Given the description of an element on the screen output the (x, y) to click on. 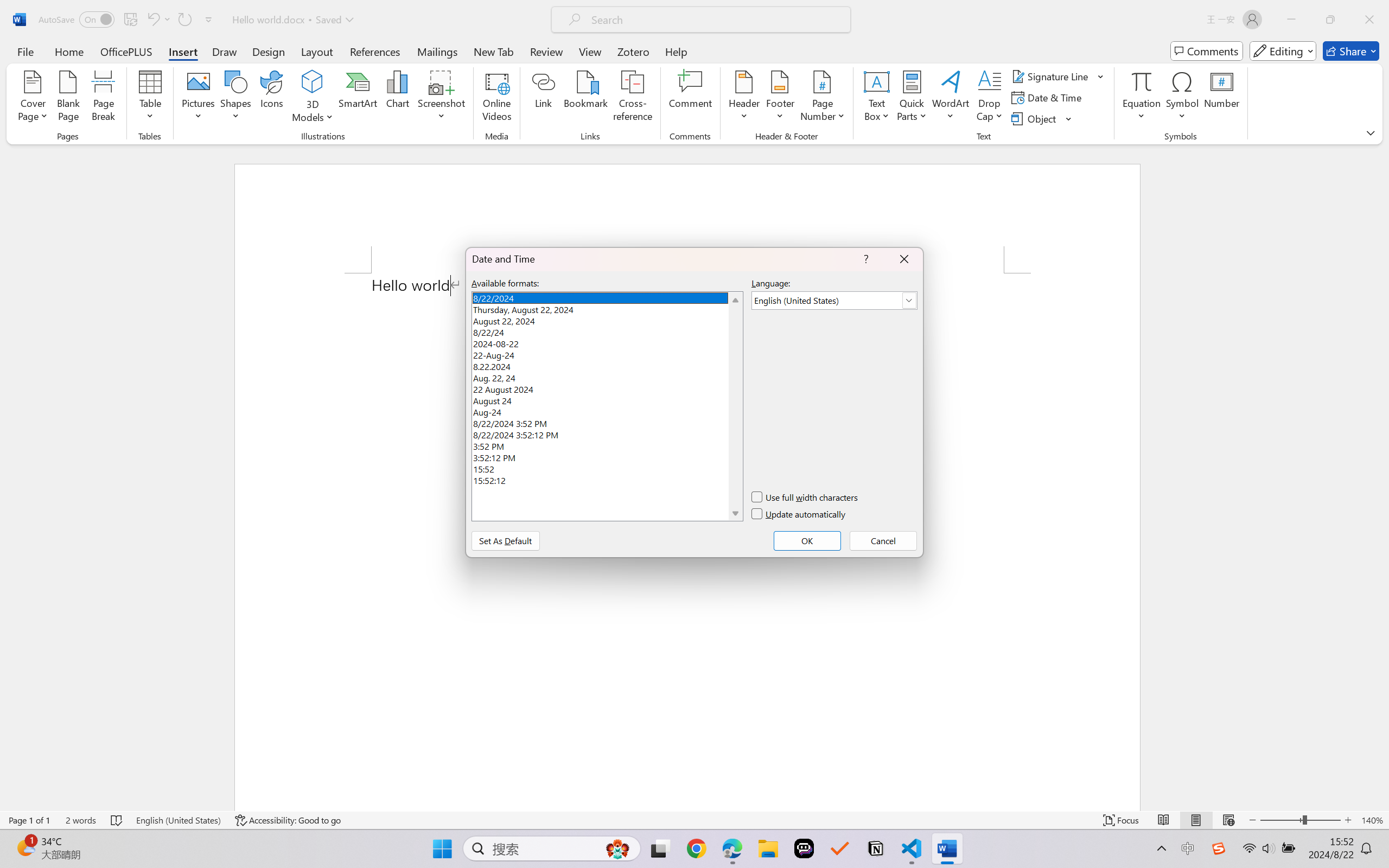
Blank Page (67, 97)
Bookmark... (585, 97)
Chart... (396, 97)
Notion (875, 848)
Cancel (883, 540)
Text Box (876, 97)
Page Number Page 1 of 1 (29, 819)
Spelling and Grammar Check No Errors (117, 819)
Signature Line (1058, 75)
Link (543, 97)
2024-08-22 (606, 342)
Number... (1221, 97)
Icons (271, 97)
Can't Undo (158, 19)
